Given the description of an element on the screen output the (x, y) to click on. 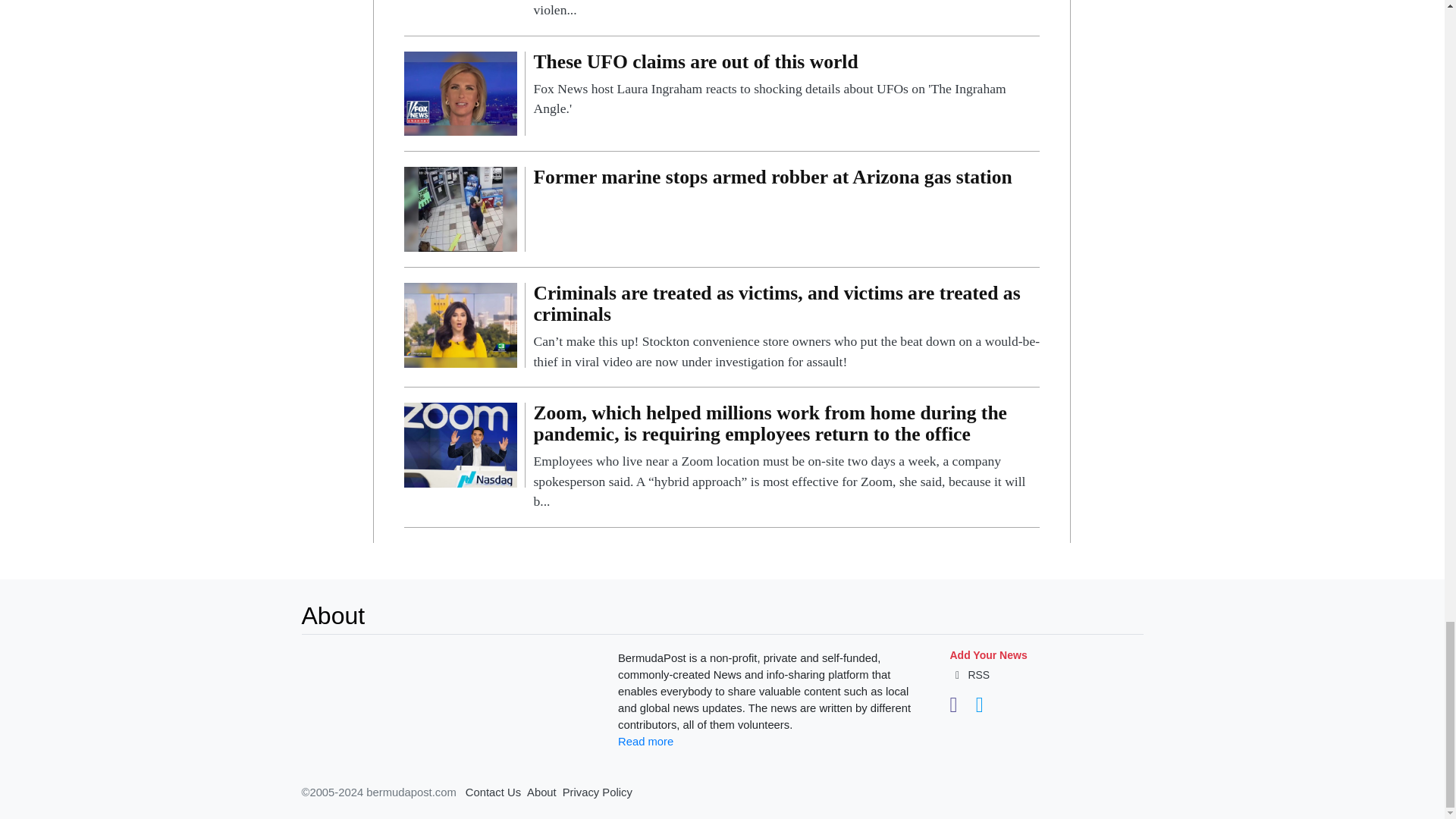
Former marine stops armed robber at Arizona gas station (785, 180)
Former marine stops armed robber at Arizona gas station (460, 207)
RSS (969, 674)
Former marine stops armed robber at Arizona gas station (785, 180)
These UFO claims are out of this world (460, 92)
Read more (644, 741)
These UFO claims are out of this world (785, 84)
Add Your News (987, 654)
